Given the description of an element on the screen output the (x, y) to click on. 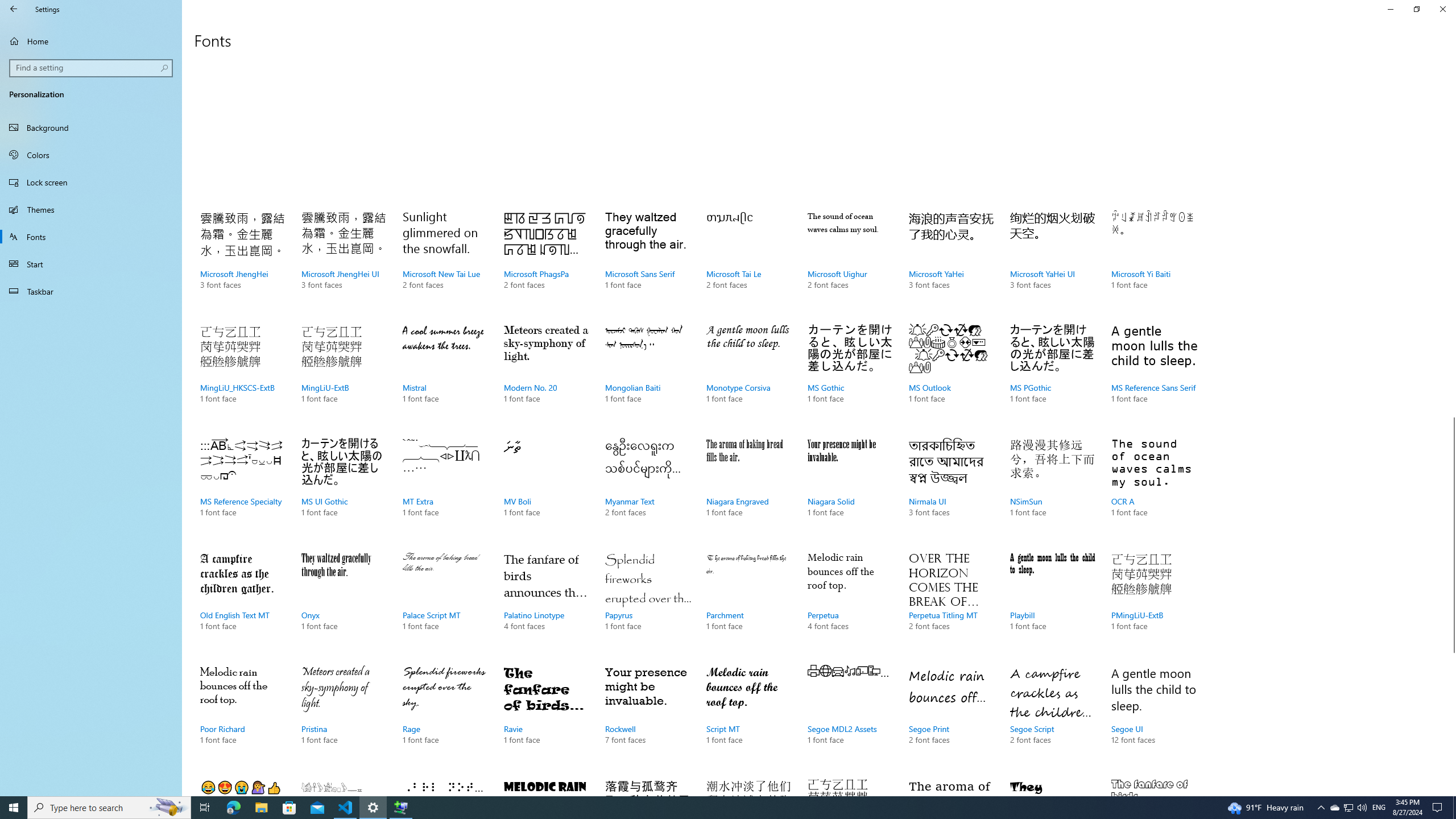
Old English Text MT, 1 font face (243, 603)
SimHei, 1 font face (647, 784)
MS Reference Specialty, 1 font face (243, 489)
SimSun-ExtB, 1 font face (850, 784)
Showcard Gothic, 1 font face (545, 784)
Papyrus, 1 font face (647, 603)
Vertical Small Decrease (1451, 58)
Microsoft Tai Le, 2 font faces (748, 261)
Poor Richard, 1 font face (243, 716)
